Given the description of an element on the screen output the (x, y) to click on. 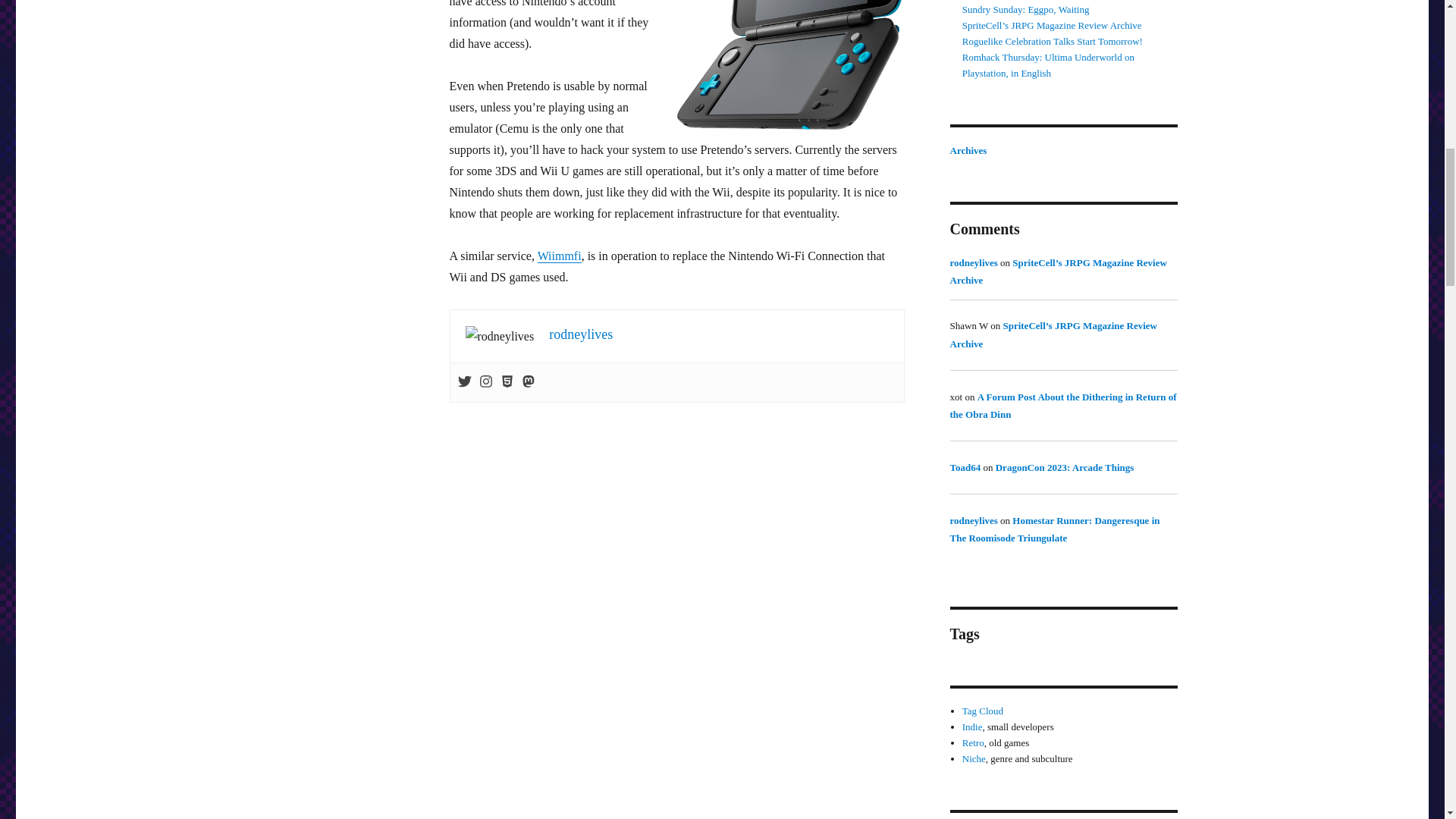
Sundry Sunday: Eggpo, Waiting (1025, 9)
rodneylives (580, 334)
Roguelike Celebration Talks Start Tomorrow! (1052, 41)
Wiimmfi (558, 255)
